Given the description of an element on the screen output the (x, y) to click on. 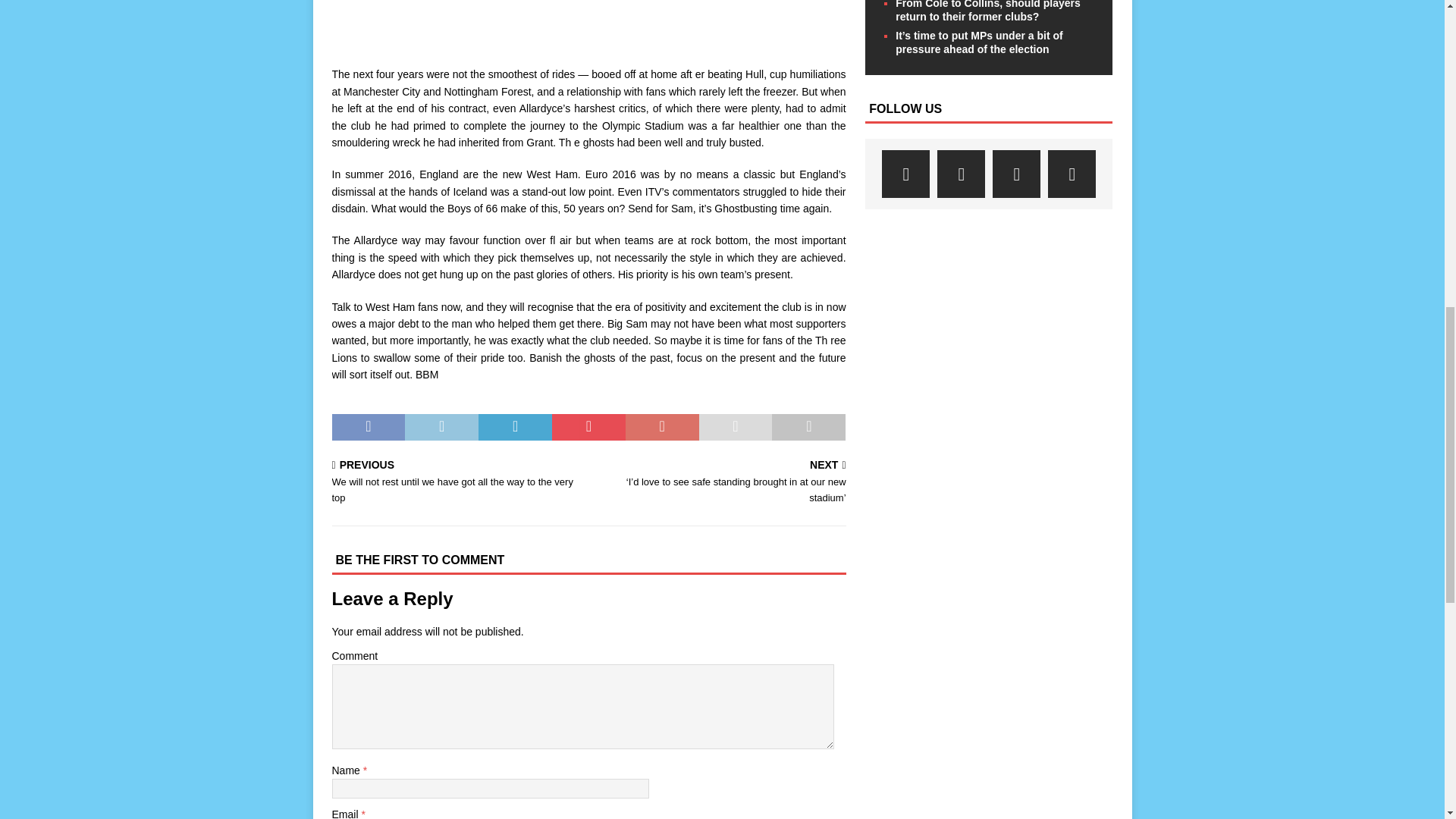
Advertisement (588, 25)
